Given the description of an element on the screen output the (x, y) to click on. 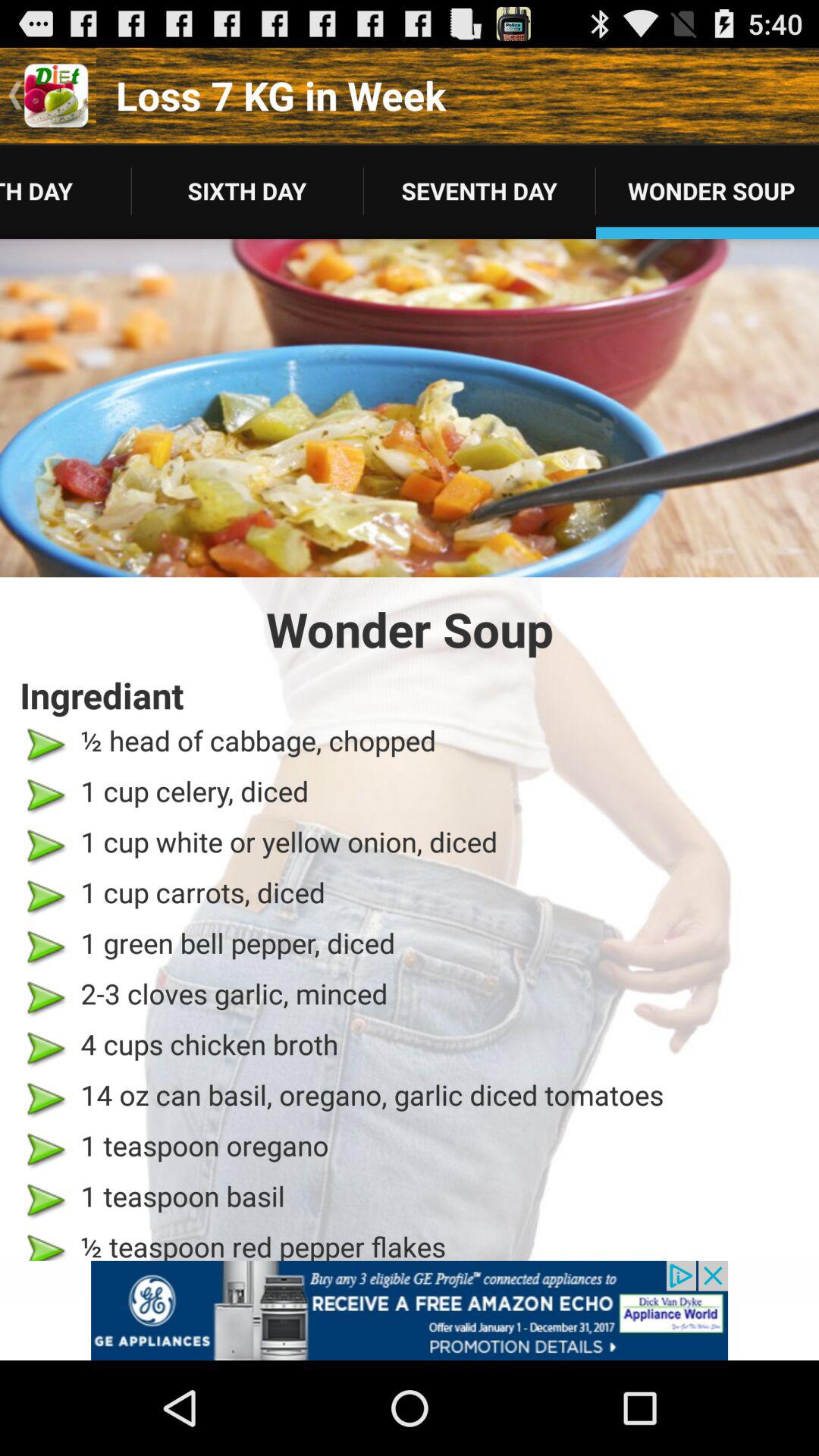
select the last arrow icon (44, 1242)
select the first arrow icon below the ingrediant (44, 744)
select the second green arrow from the top (44, 795)
click on the third green arrow near 1 cup white or yellow oniondiced (44, 845)
